Given the description of an element on the screen output the (x, y) to click on. 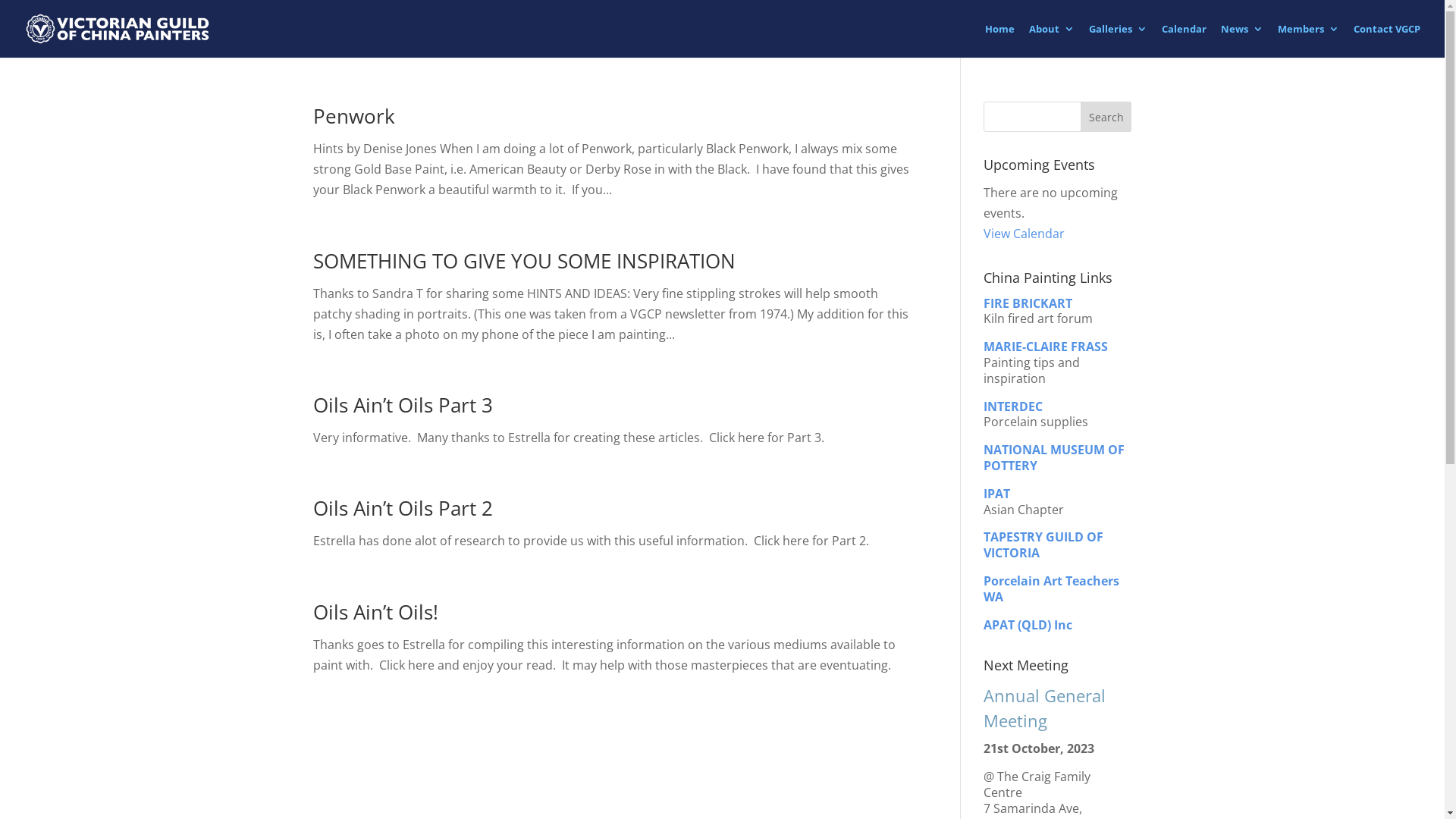
INTERDEC Element type: text (1012, 406)
Penwork Element type: text (353, 115)
MARIE-CLAIRE FRASS Element type: text (1045, 346)
APAT (QLD) Inc Element type: text (1027, 624)
Contact VGCP Element type: text (1386, 39)
FIRE BRICKART Element type: text (1027, 302)
Search Element type: text (1106, 116)
IPAT Element type: text (996, 493)
About Element type: text (1051, 39)
Members Element type: text (1308, 39)
View Calendar Element type: text (1023, 233)
Galleries Element type: text (1117, 39)
TAPESTRY GUILD OF VICTORIA  Element type: text (1043, 544)
News Element type: text (1241, 39)
Home Element type: text (999, 39)
SOMETHING TO GIVE YOU SOME INSPIRATION Element type: text (523, 260)
Calendar Element type: text (1183, 39)
NATIONAL MUSEUM OF POTTERY Element type: text (1053, 457)
Porcelain Art Teachers WA Element type: text (1051, 588)
